Given the description of an element on the screen output the (x, y) to click on. 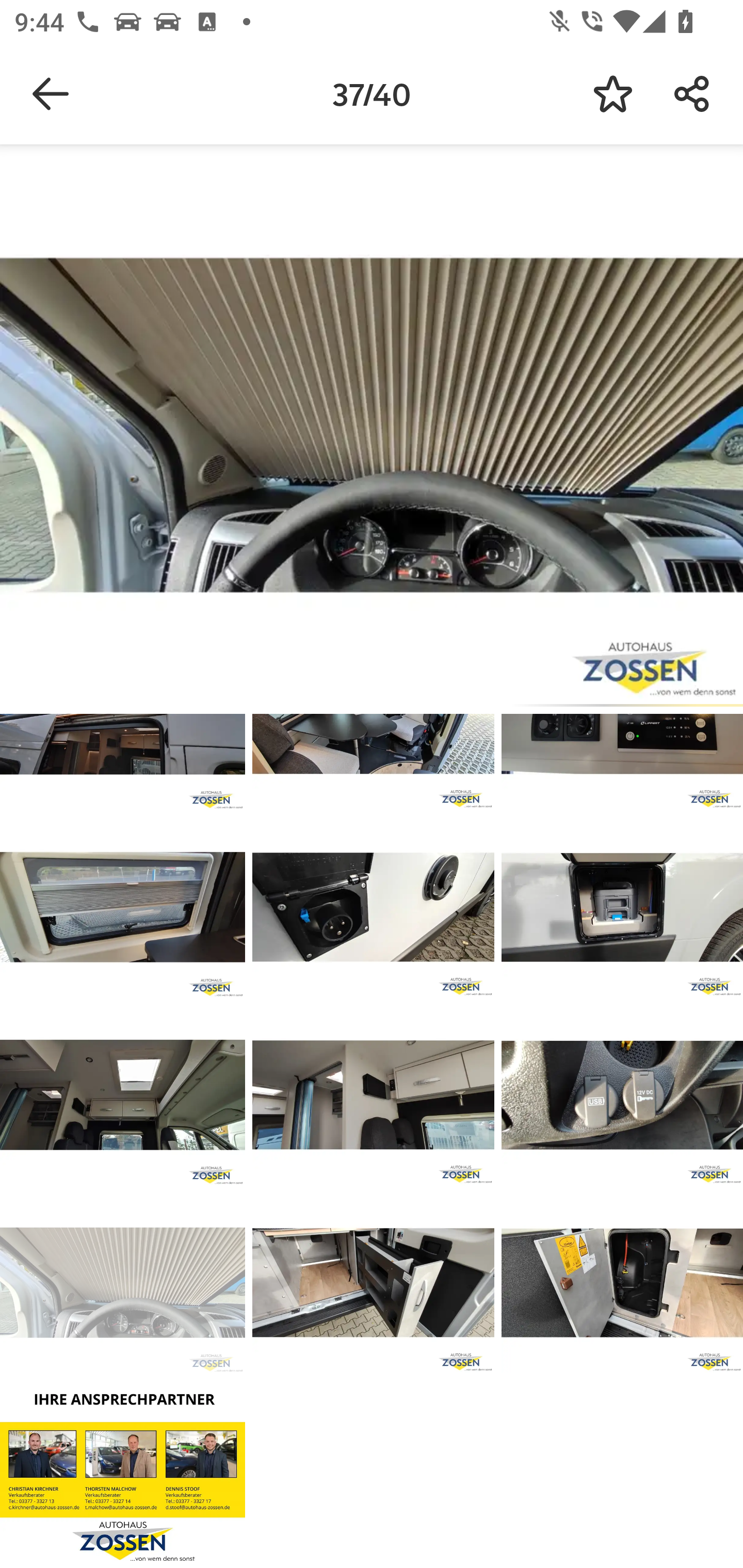
back button (50, 93)
share button (692, 93)
main image view (371, 428)
image (122, 906)
image (373, 906)
image (622, 906)
image (122, 1095)
image (373, 1095)
image (622, 1095)
image (122, 1283)
image (373, 1283)
image (622, 1283)
image (122, 1469)
